Given the description of an element on the screen output the (x, y) to click on. 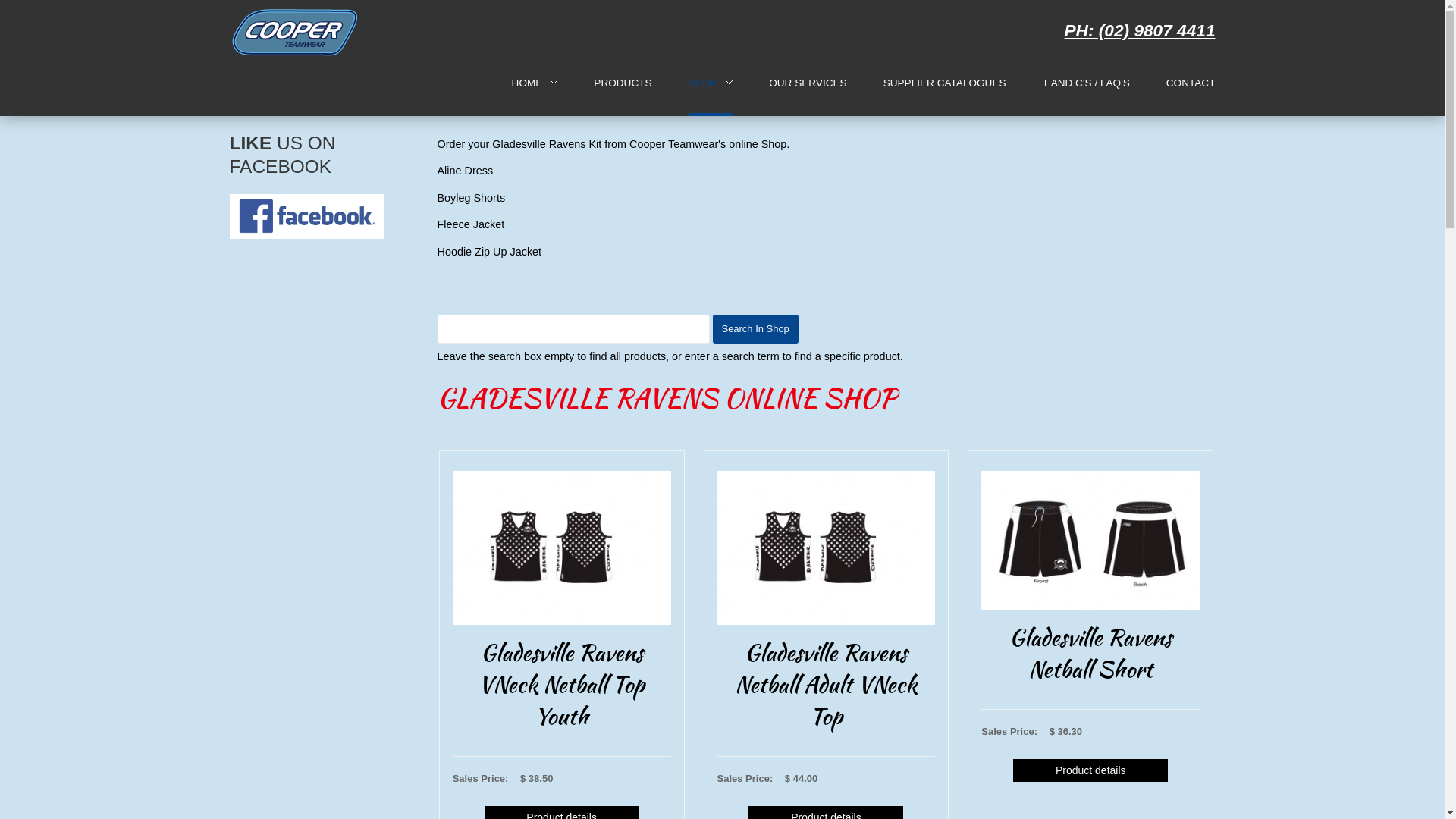
HOME Element type: text (526, 82)
PRODUCTS Element type: text (622, 83)
T AND C'S / FAQ'S Element type: text (1085, 82)
Gladesville Ravens VNeck Netball Top Youth Element type: hover (561, 546)
Search in shop Element type: text (755, 328)
CONTACT Element type: text (1190, 82)
PRODUCTS Element type: text (622, 82)
Product details Element type: text (1090, 770)
SUPPLIER CATALOGUES Element type: text (944, 82)
Gladesville Ravens Netball Short  Element type: hover (1090, 539)
OUR SERVICES Element type: text (807, 82)
Gladesville Ravens Netball Adult VNeck Top  Element type: hover (826, 546)
Gladesville Ravens Netball Short Element type: text (1090, 652)
HOME Element type: text (534, 83)
SHOP Element type: text (710, 83)
T AND C'S / FAQ'S Element type: text (1085, 83)
SHOP Element type: text (703, 82)
OUR SERVICES Element type: text (807, 83)
Gladesville Ravens Netball Adult VNeck Top Element type: text (826, 683)
CONTACT Element type: text (1190, 83)
SUPPLIER CATALOGUES Element type: text (944, 83)
Gladesville Ravens VNeck Netball Top Youth Element type: text (561, 683)
